Given the description of an element on the screen output the (x, y) to click on. 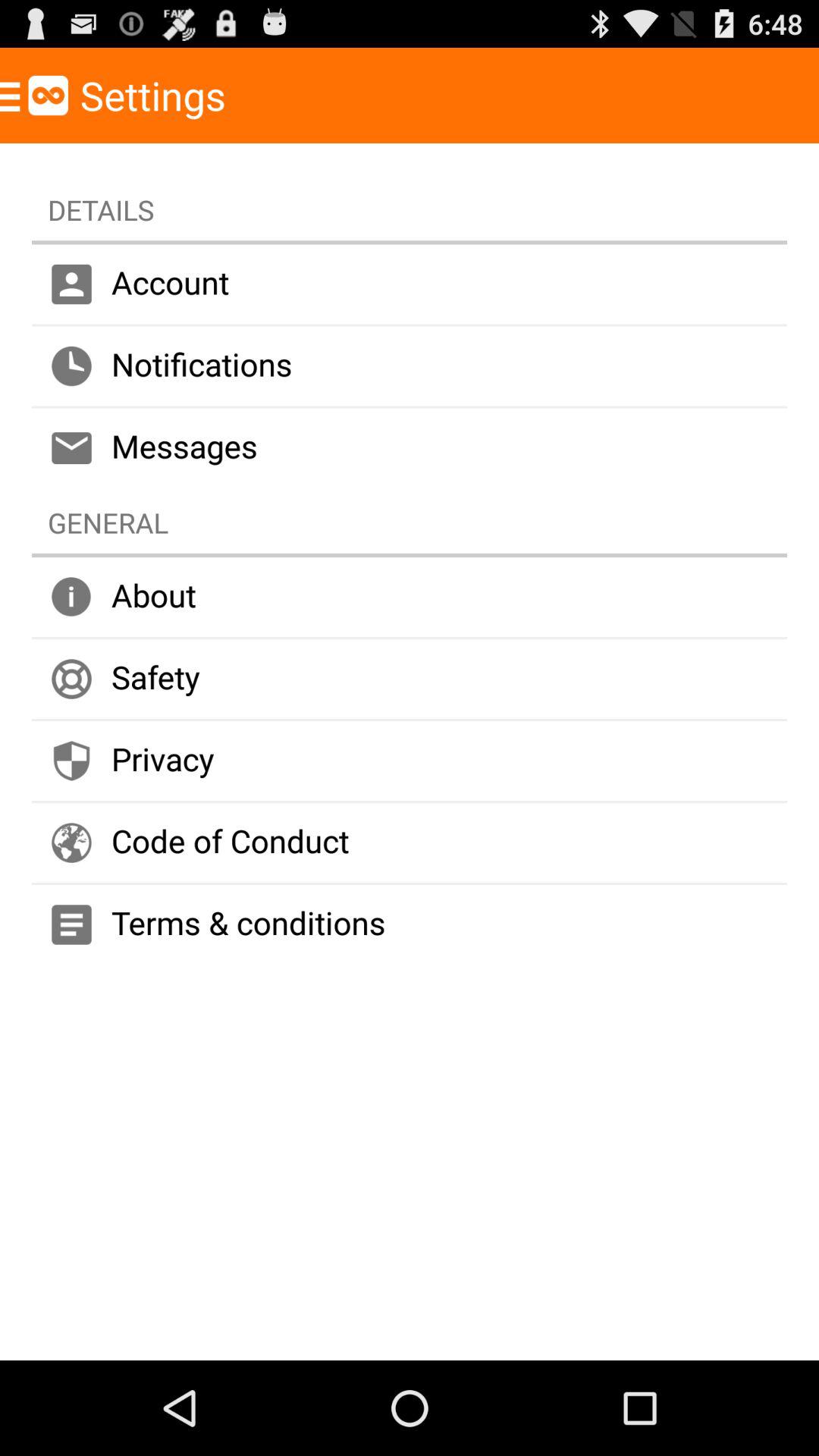
flip to the notifications (409, 366)
